Given the description of an element on the screen output the (x, y) to click on. 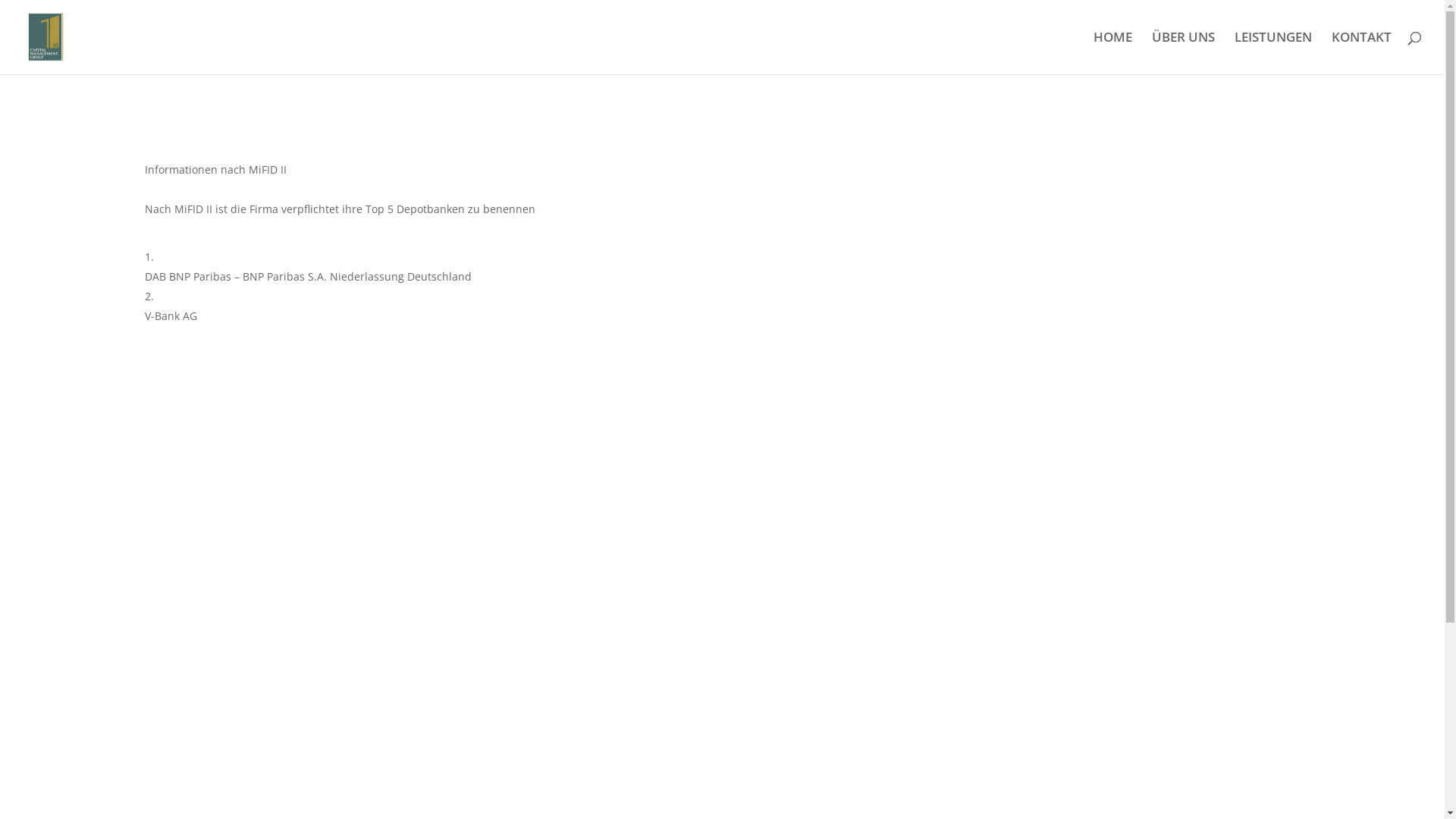
HOME Element type: text (1112, 52)
KONTAKT Element type: text (1361, 52)
LEISTUNGEN Element type: text (1272, 52)
